Given the description of an element on the screen output the (x, y) to click on. 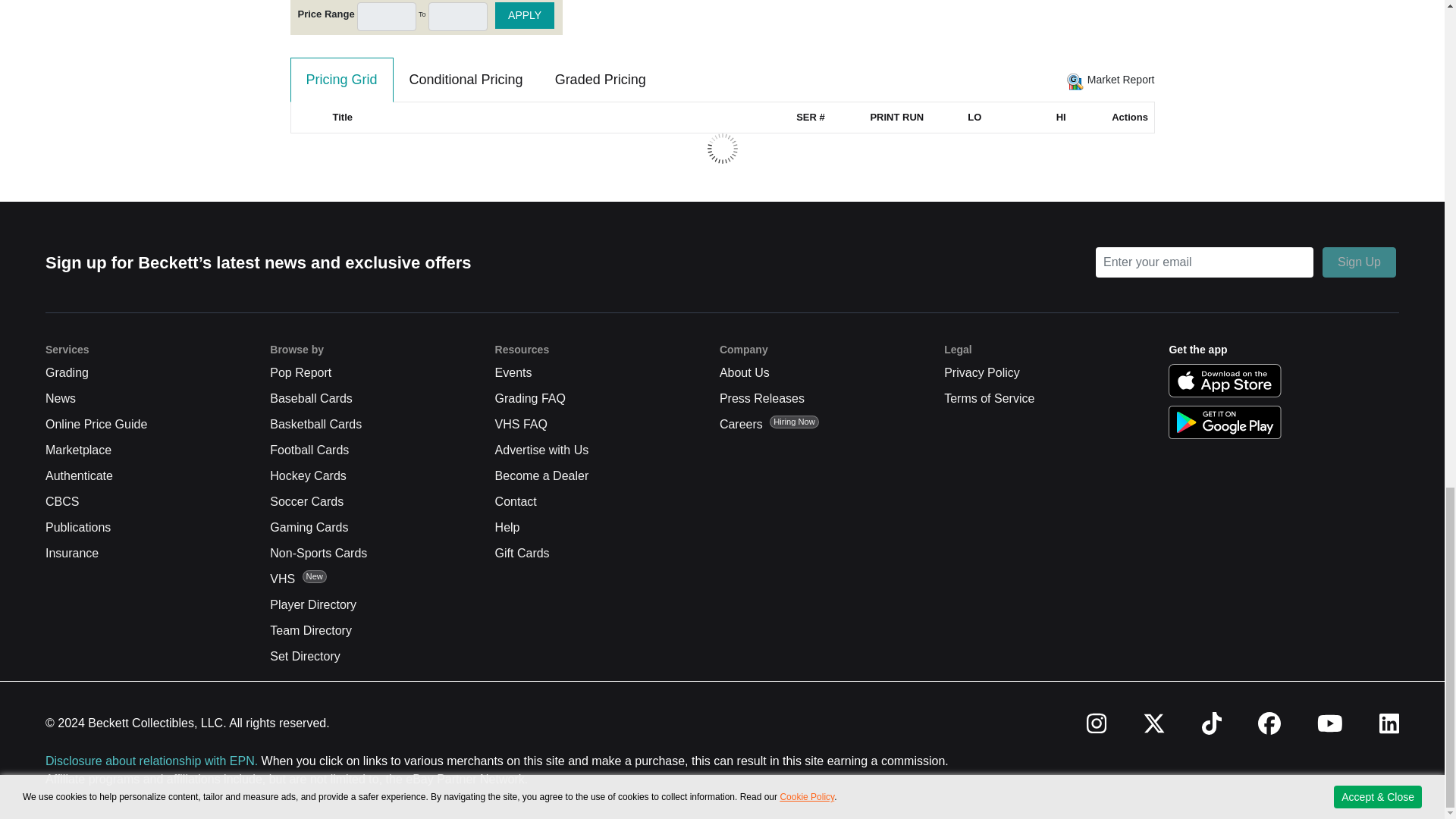
Sign Up (1359, 262)
Pop Report (300, 372)
Hockey Cards (307, 475)
Authenticate (79, 475)
Please login to use price range filter (457, 16)
Please login to use price range filter (386, 16)
Publications (77, 527)
Gaming Cards (308, 527)
Insurance (72, 553)
Player Directory (312, 605)
